Given the description of an element on the screen output the (x, y) to click on. 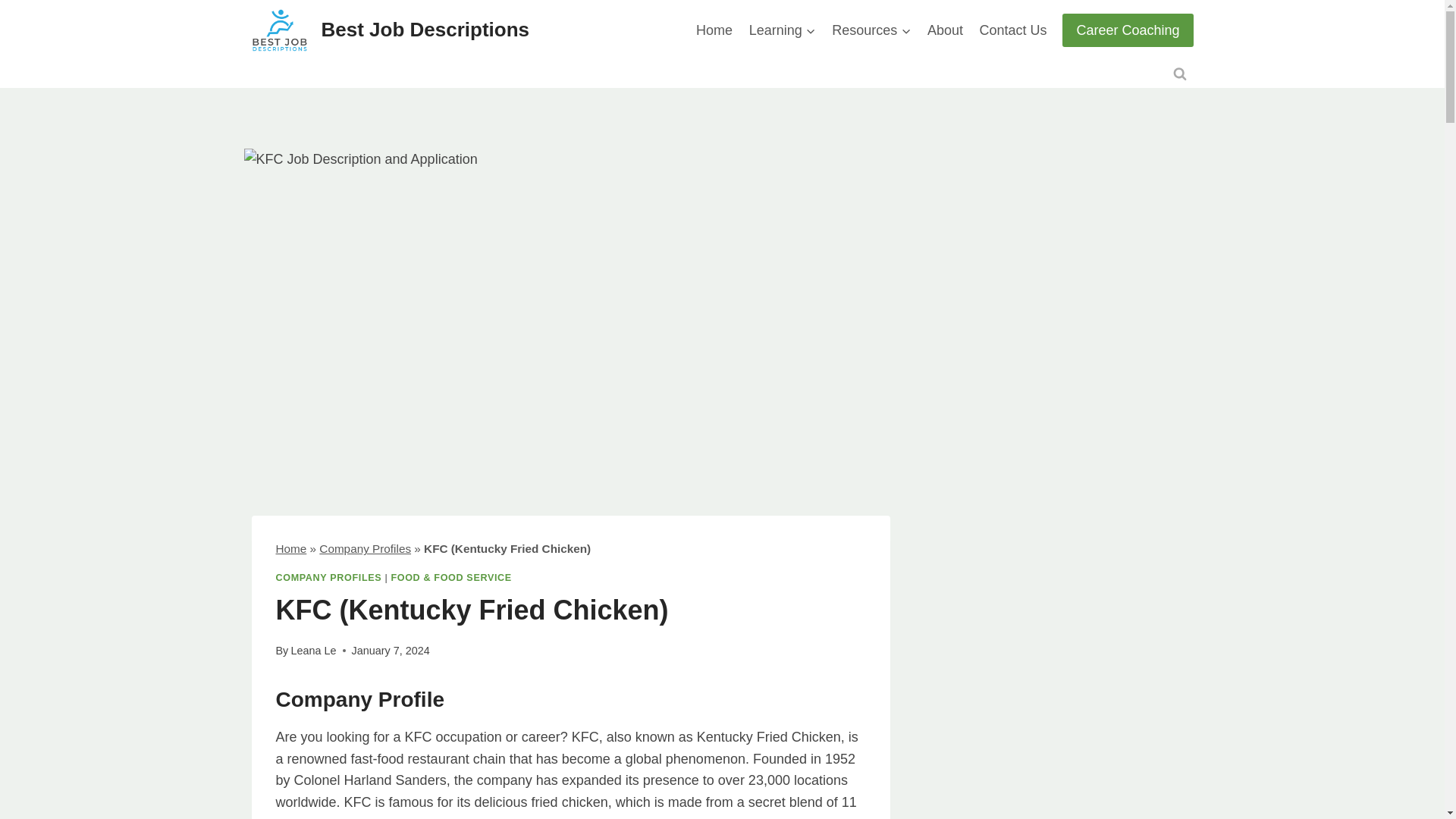
Company Profiles (364, 548)
Best Job Descriptions (390, 30)
Home (291, 548)
COMPANY PROFILES (328, 577)
Career Coaching (1127, 29)
Learning (782, 30)
Leana Le (312, 650)
Home (714, 30)
About (944, 30)
Resources (871, 30)
Contact Us (1013, 30)
